Given the description of an element on the screen output the (x, y) to click on. 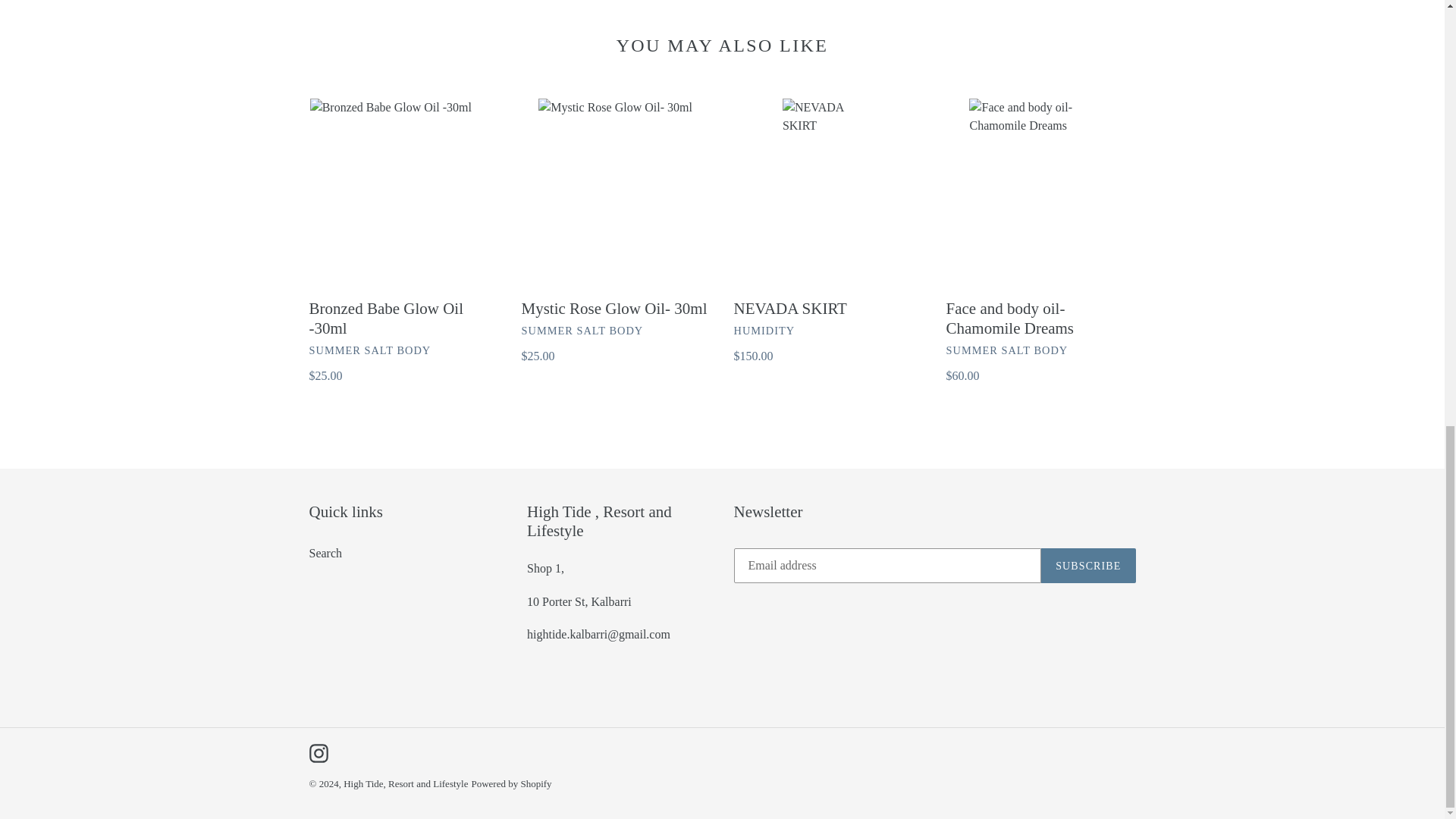
Instagram (318, 752)
NEVADA SKIRT (828, 231)
Mystic Rose Glow Oil- 30ml (616, 231)
Powered by Shopify (510, 783)
SUBSCRIBE (1088, 565)
Search (325, 553)
High Tide, Resort and Lifestyle (405, 783)
Bronzed Babe Glow Oil -30ml (403, 241)
Face and body oil- Chamomile Dreams (1040, 241)
